Given the description of an element on the screen output the (x, y) to click on. 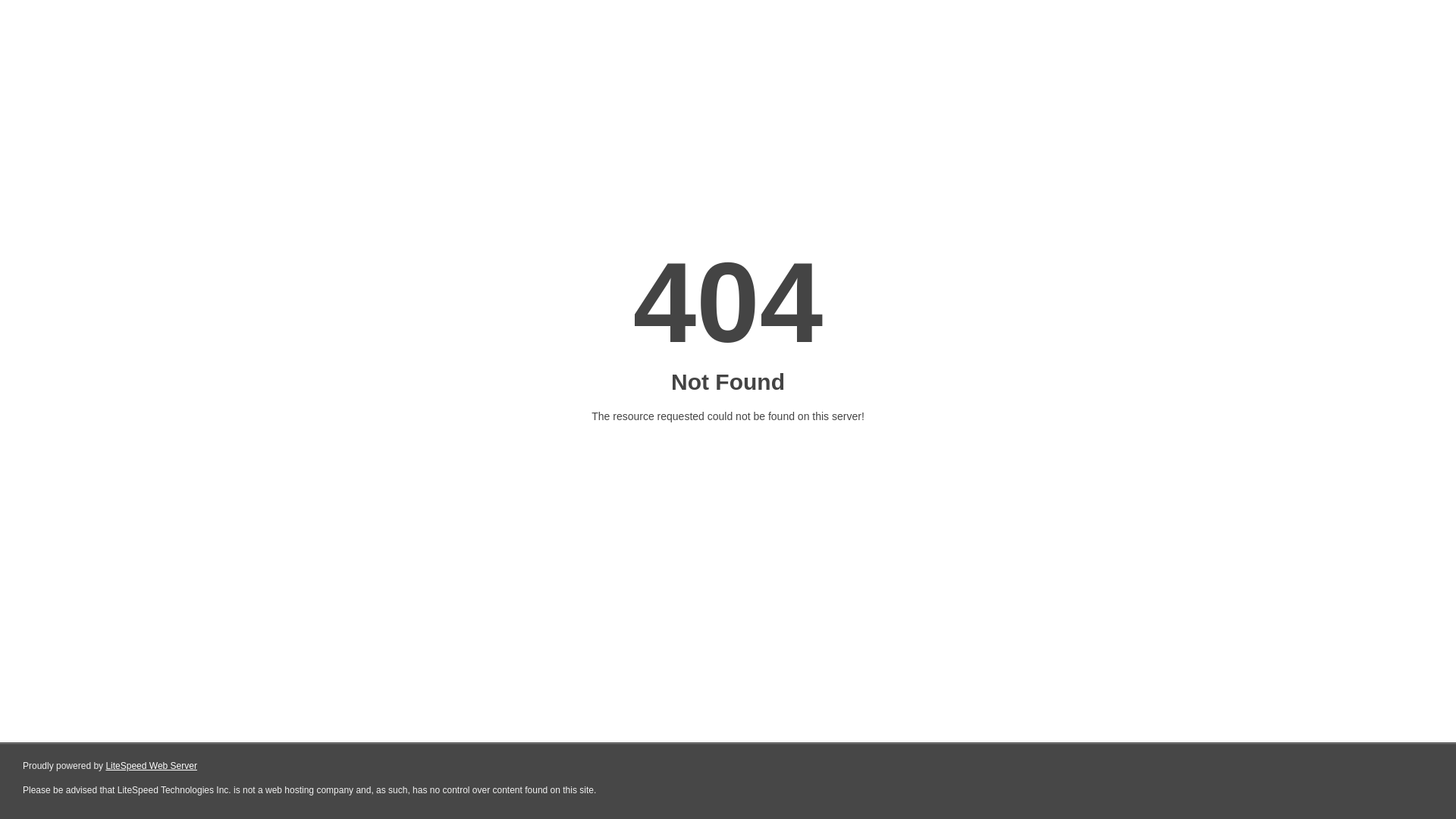
LiteSpeed Web Server Element type: text (151, 765)
